Given the description of an element on the screen output the (x, y) to click on. 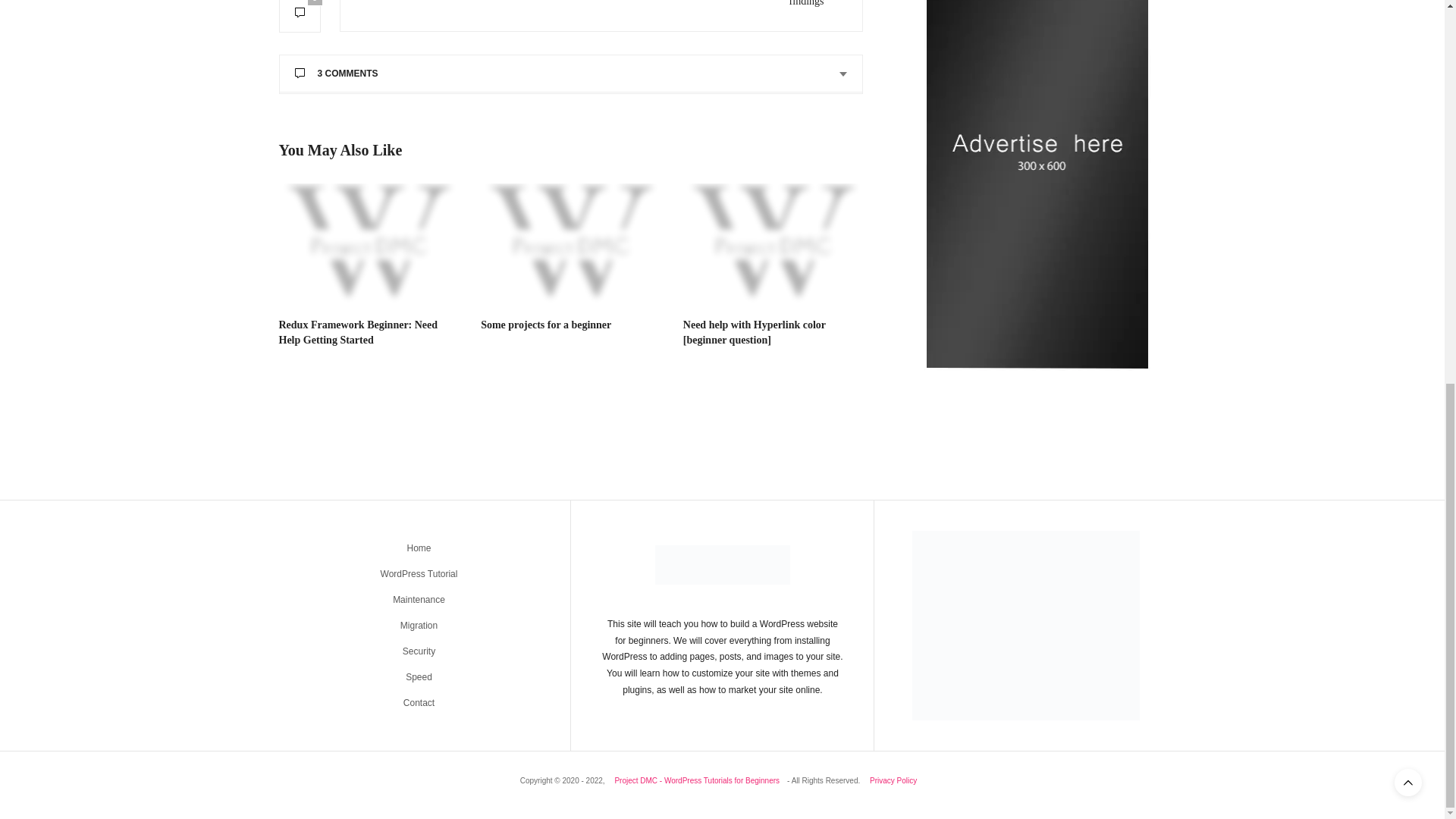
Some projects for a beginner (545, 324)
Redux Framework Beginner: Need Help Getting Started (368, 243)
Some projects for a beginner (570, 243)
Redux Framework Beginner: Need Help Getting Started (358, 332)
Scroll To Top (1408, 63)
